Given the description of an element on the screen output the (x, y) to click on. 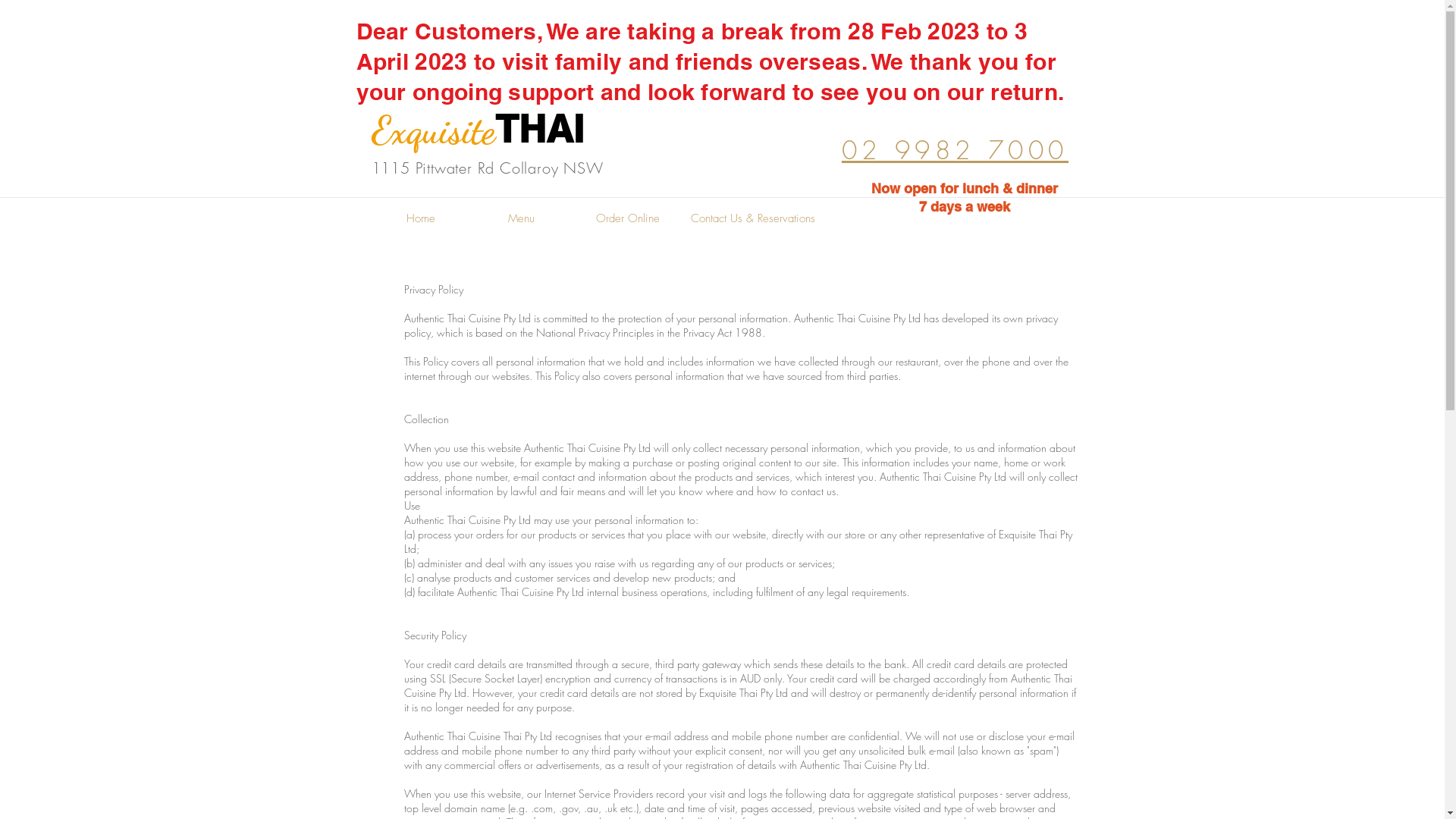
Order Online Element type: text (626, 218)
Menu Element type: text (520, 218)
02 9982 7000 Element type: text (954, 149)
Home Element type: text (420, 218)
Contact Us & Reservations Element type: text (752, 218)
